Given the description of an element on the screen output the (x, y) to click on. 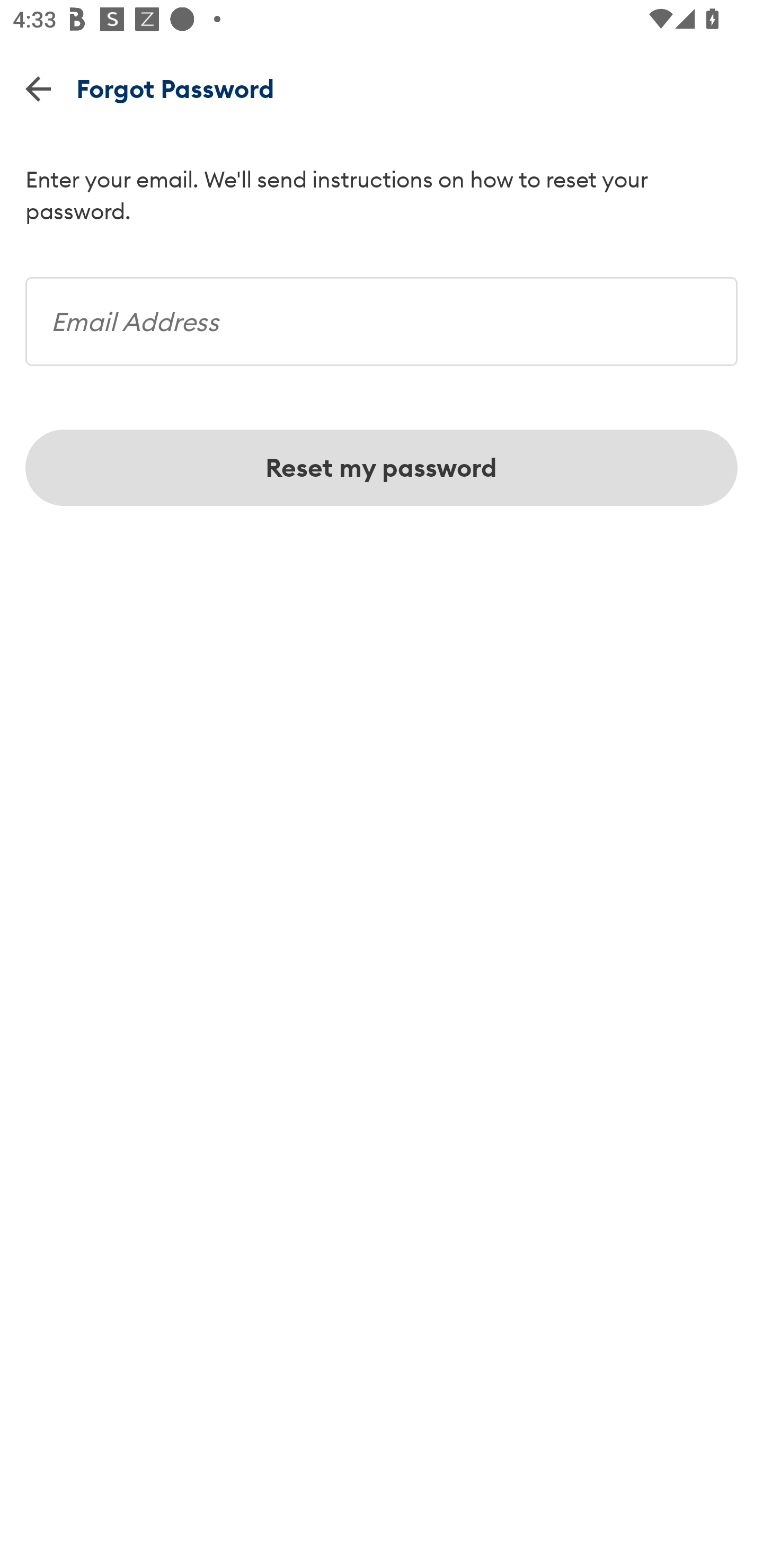
Back (38, 88)
Email Address (381, 314)
Reset my password (381, 467)
